Given the description of an element on the screen output the (x, y) to click on. 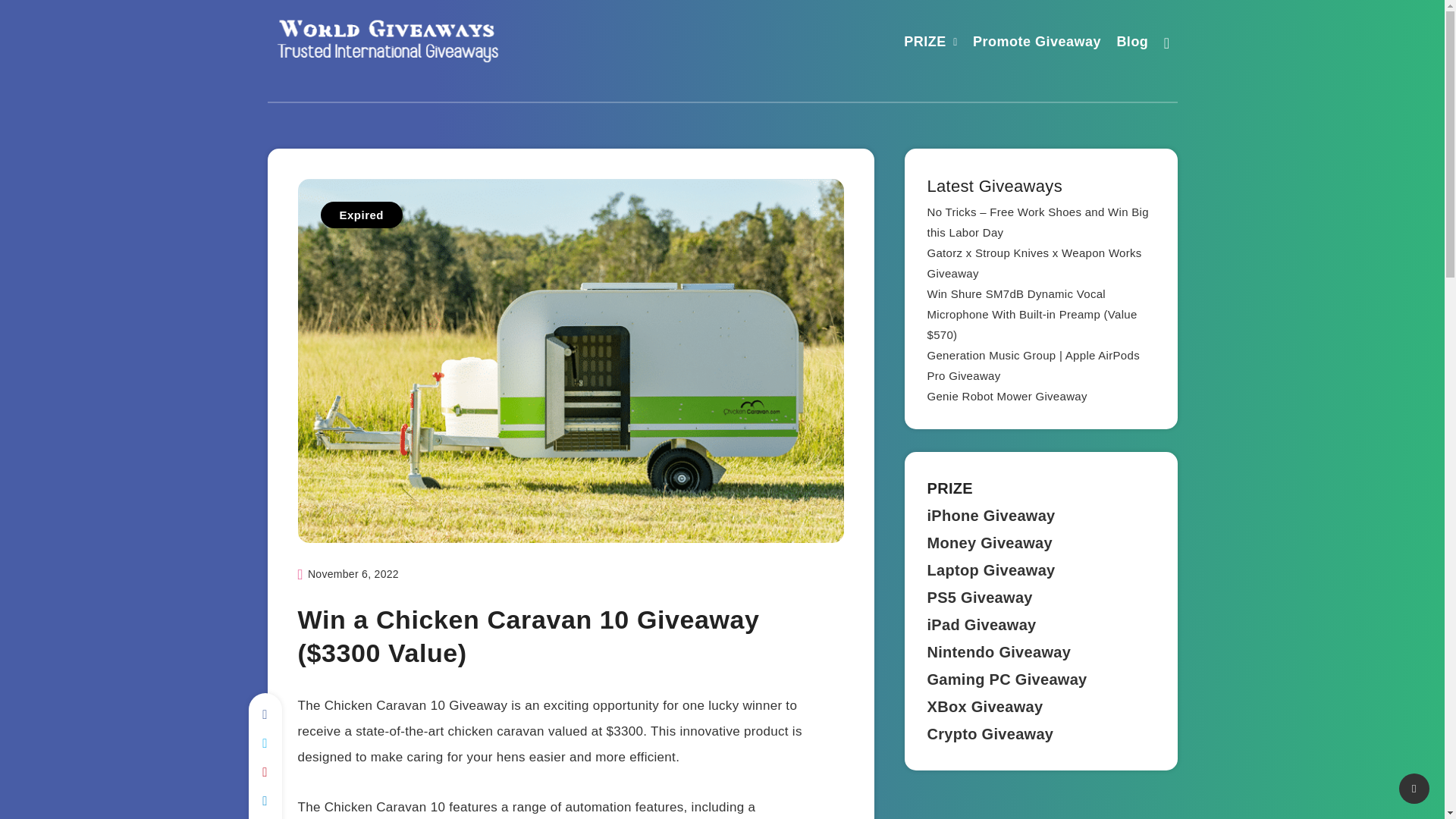
Blog (1132, 43)
PRIZE (925, 43)
Gatorz x Stroup Knives x Weapon Works Giveaway (1033, 263)
Expired (361, 214)
Promote Giveaway (1036, 43)
